Given the description of an element on the screen output the (x, y) to click on. 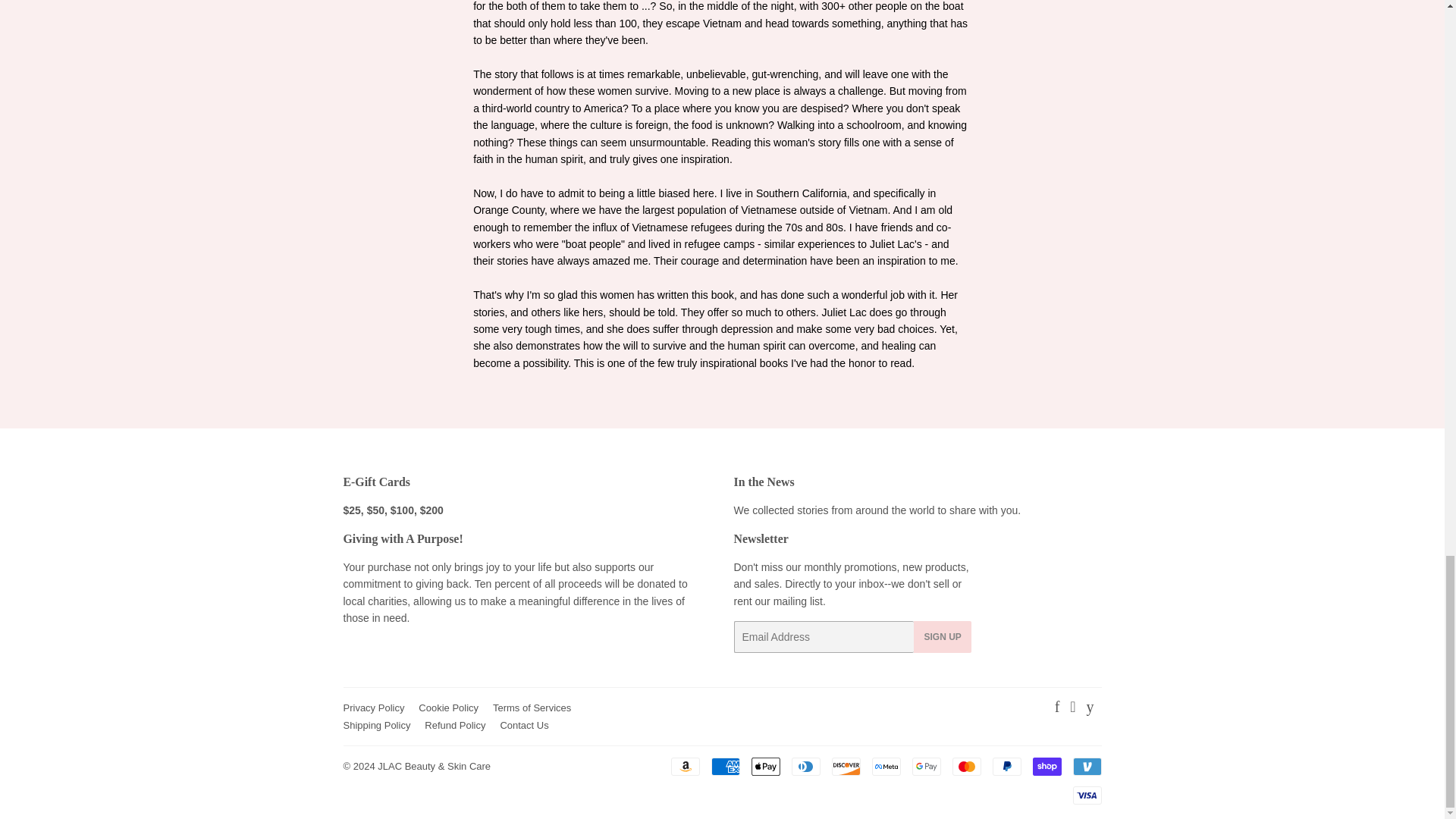
American Express (725, 766)
Venmo (1085, 766)
Visa (1085, 795)
Google Pay (925, 766)
Amazon (683, 766)
JLAC Beauty Skincare Gift Card (392, 510)
Mastercard (966, 766)
Meta Pay (886, 766)
News (877, 510)
PayPal (1005, 766)
